Given the description of an element on the screen output the (x, y) to click on. 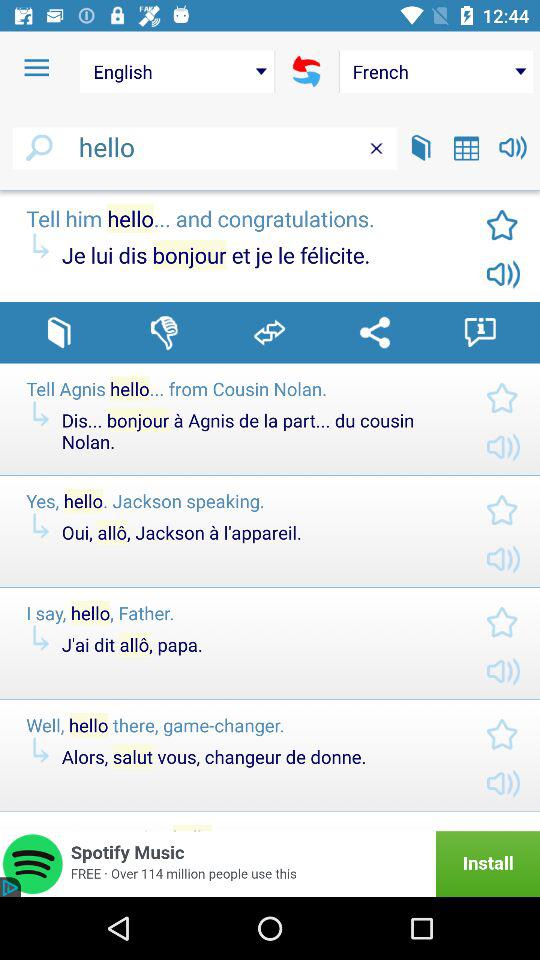
adjust volume (512, 147)
